Given the description of an element on the screen output the (x, y) to click on. 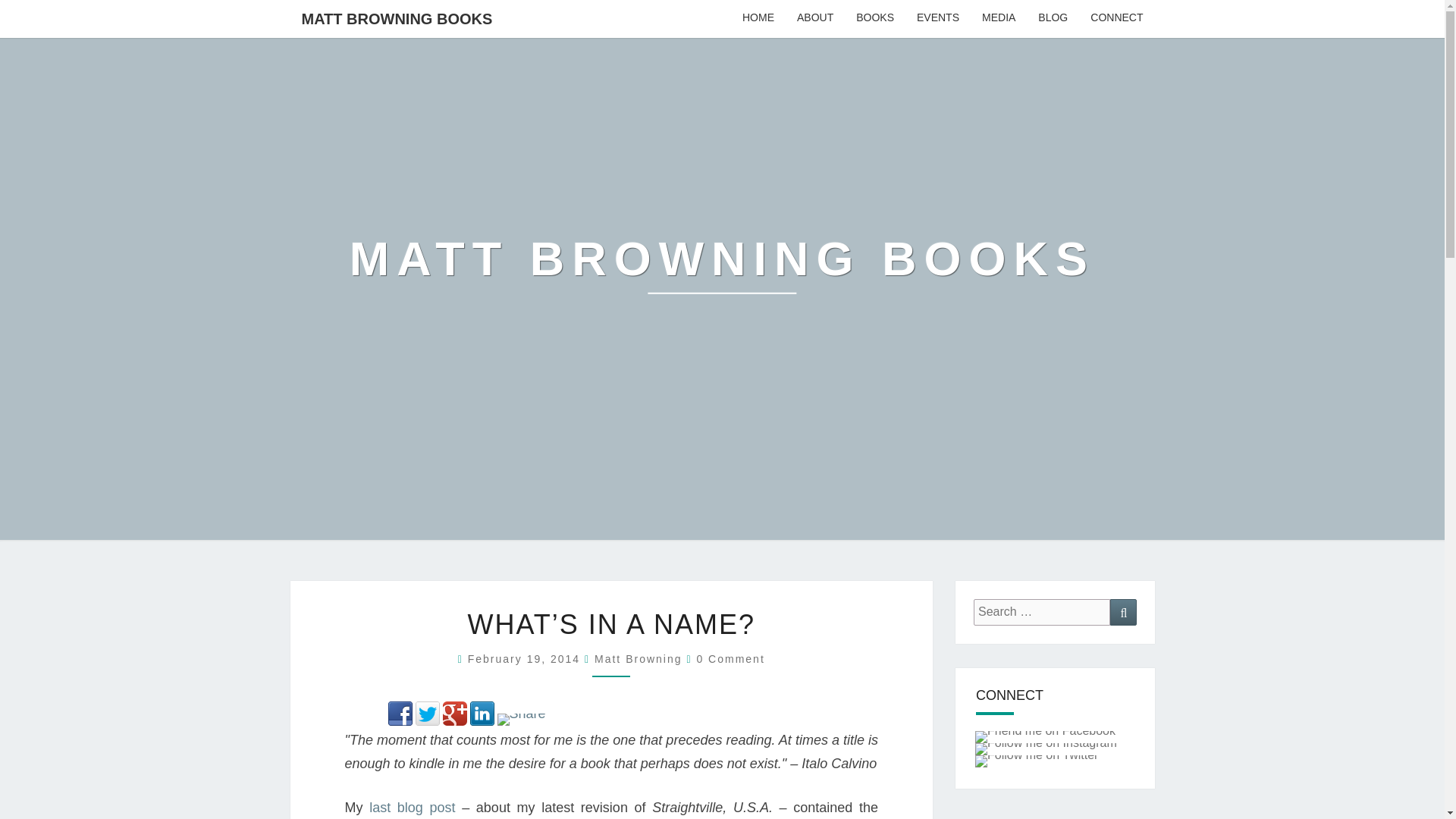
Follow me on Twitter (1036, 761)
Matt Browning Books (721, 269)
EVENTS (938, 18)
February 19, 2014 (526, 658)
Matt Browning (637, 658)
Search for: (1041, 611)
MATT BROWNING BOOKS (396, 18)
last blog post (411, 807)
Share on Facebook (400, 713)
Follow me on Instagram (1045, 748)
